Given the description of an element on the screen output the (x, y) to click on. 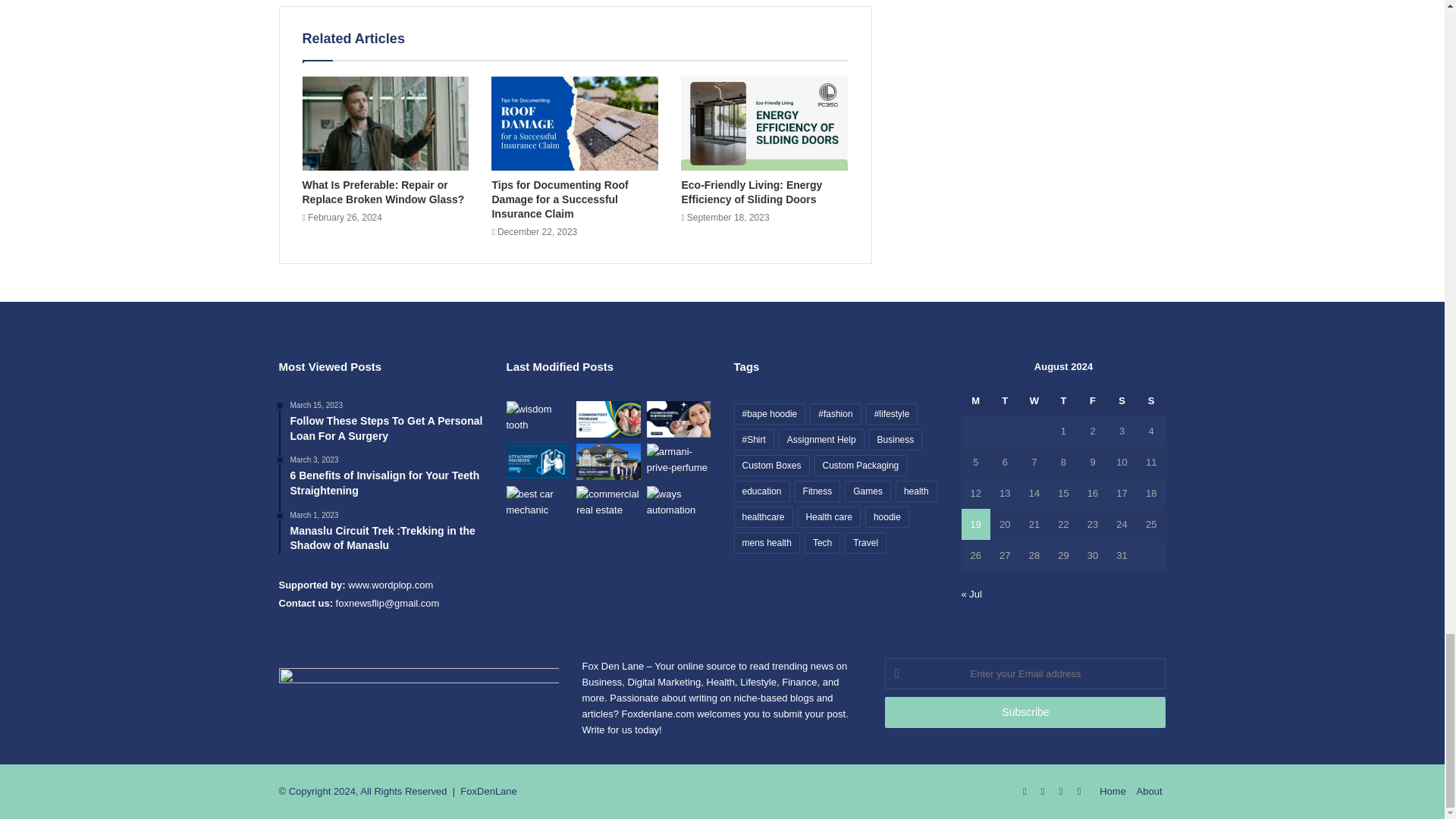
Tuesday (1005, 400)
Subscribe (1025, 712)
Wednesday (1034, 400)
Monday (975, 400)
